Given the description of an element on the screen output the (x, y) to click on. 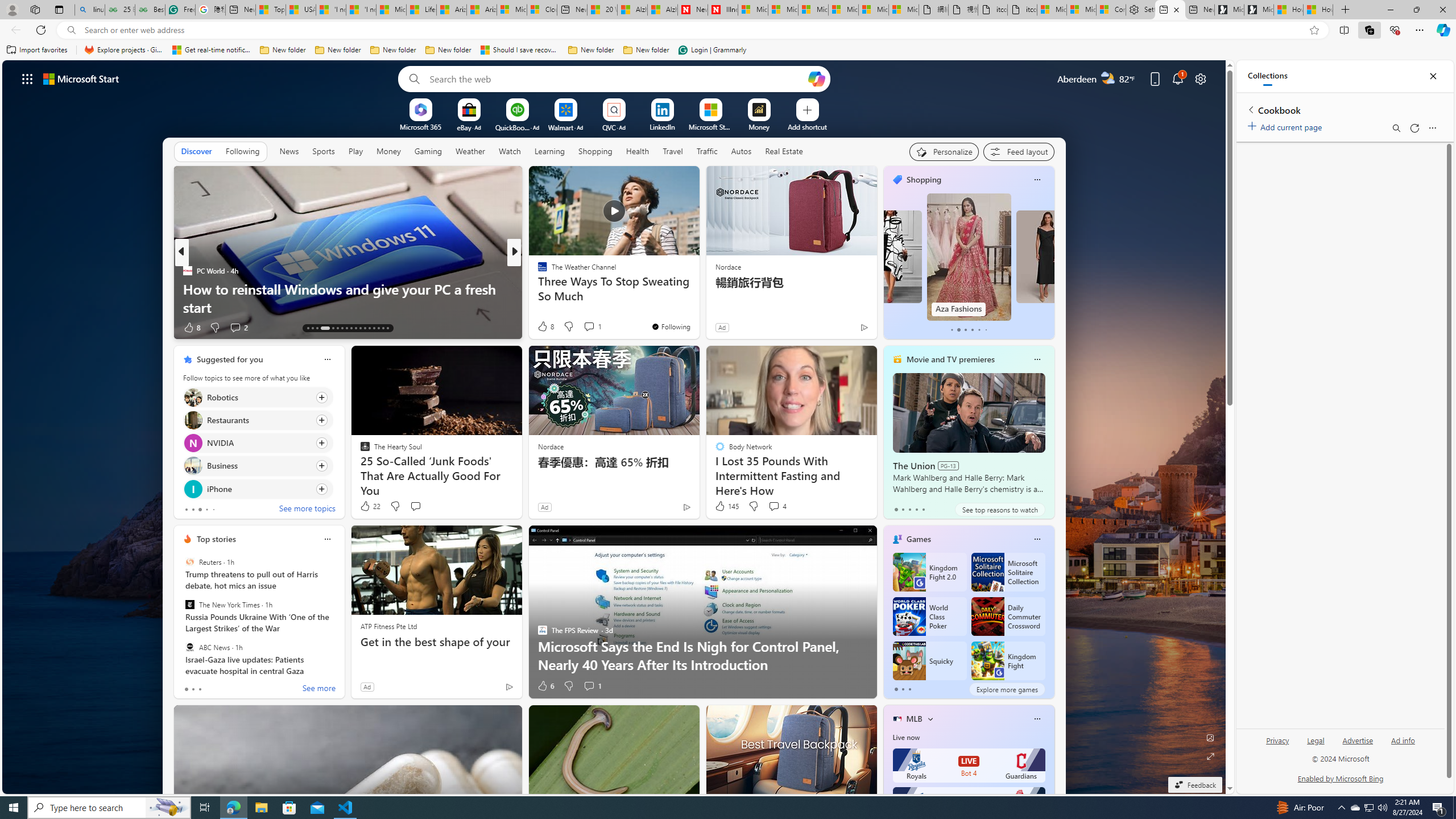
6 Like (545, 685)
Sports (323, 151)
View comments 36 Comment (597, 327)
linux basic - Search (89, 9)
Restaurants (192, 419)
The Manual (537, 270)
tab-5 (986, 329)
Learning (549, 151)
tab-3 (916, 509)
Autos (740, 151)
Weather (470, 151)
